Given the description of an element on the screen output the (x, y) to click on. 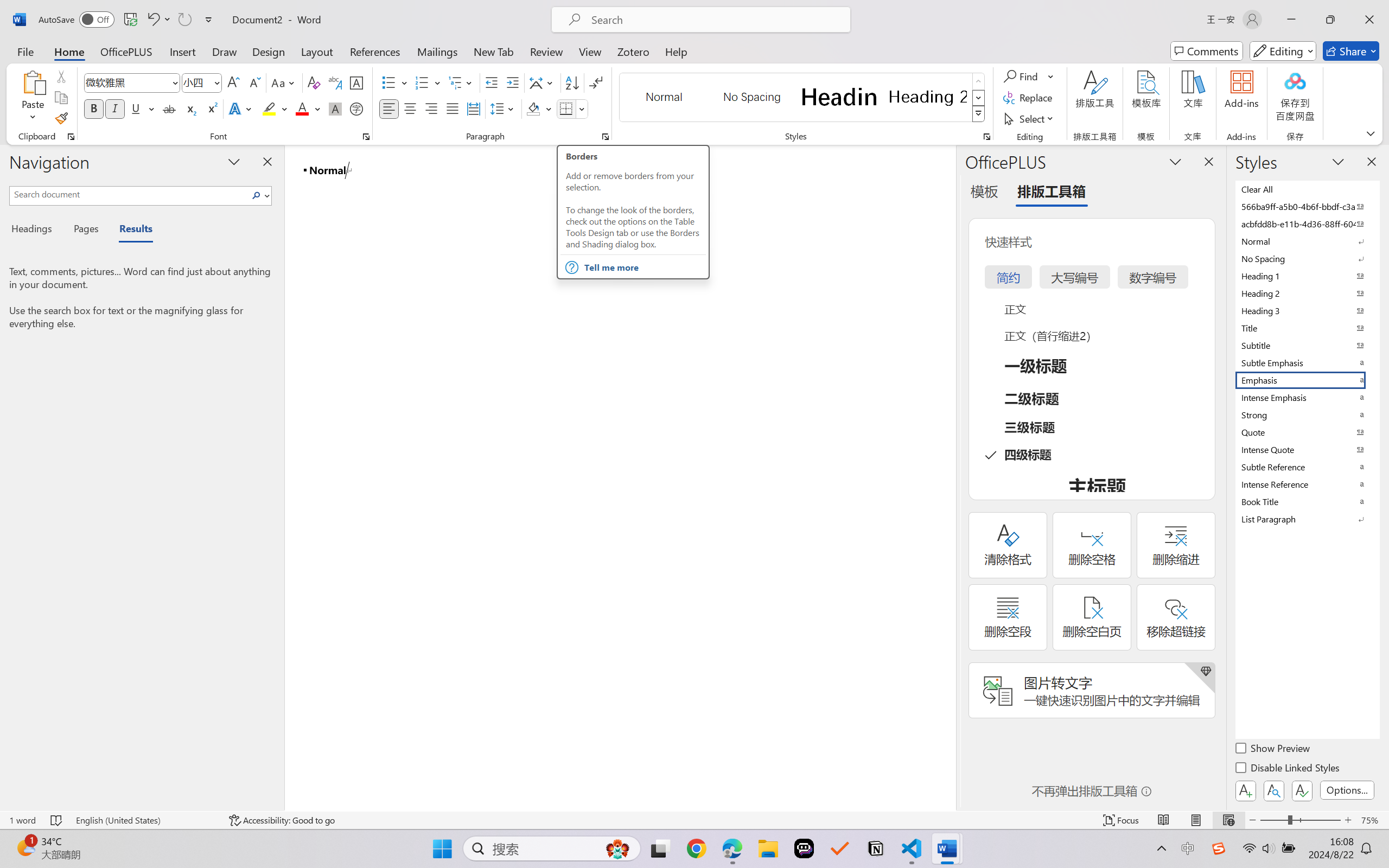
Cut (60, 75)
Quick Access Toolbar (127, 19)
Subtle Emphasis (1306, 362)
Spelling and Grammar Check No Errors (56, 819)
Heading 1 (839, 96)
Strikethrough (169, 108)
Zoom Out (1273, 819)
Class: NetUIButton (1301, 790)
Layout (316, 51)
Draw (224, 51)
Word Count 1 word (21, 819)
